Given the description of an element on the screen output the (x, y) to click on. 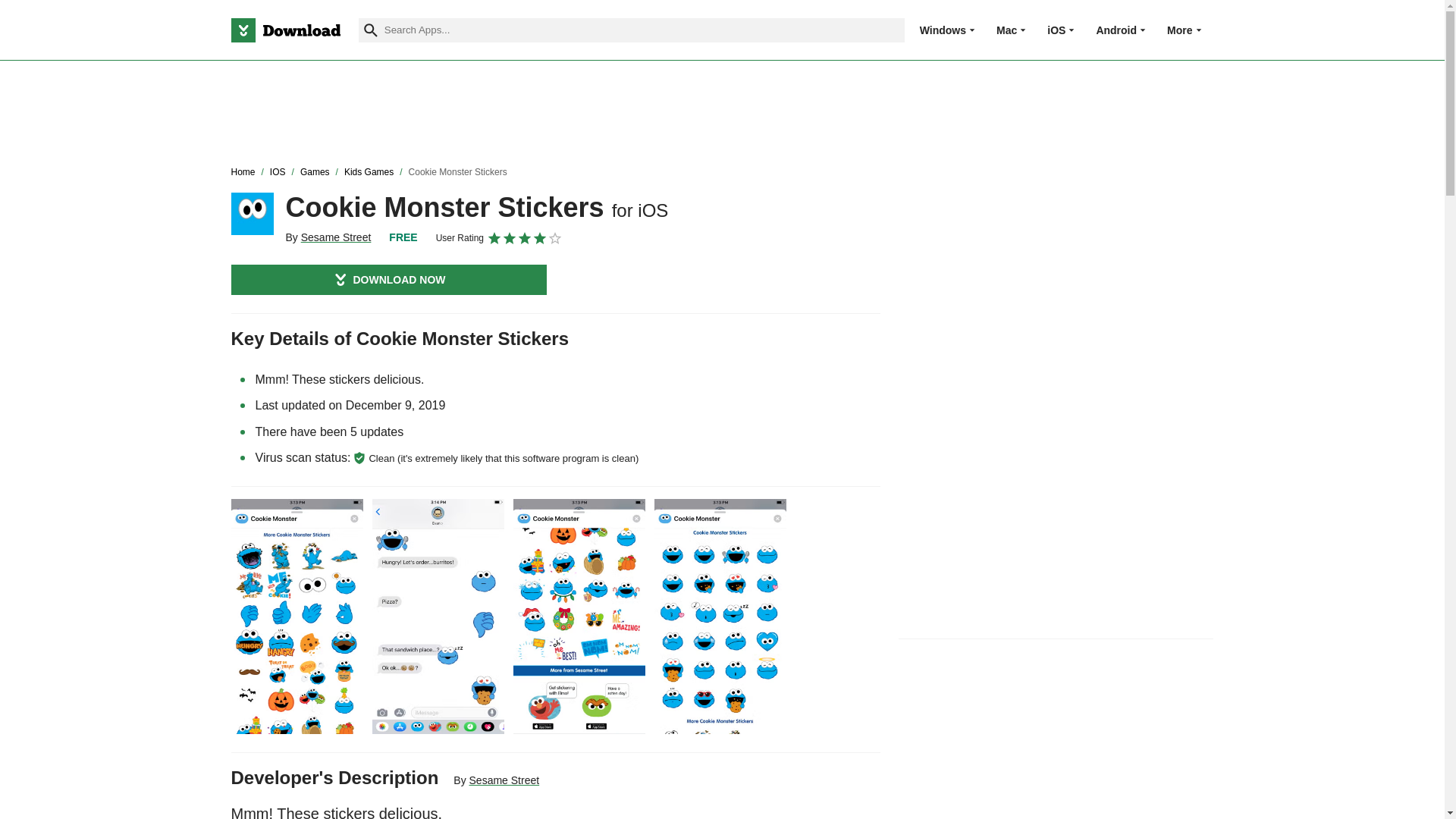
Mac (1005, 29)
Windows (943, 29)
Cookie Monster Stickers for iOS (251, 213)
